Given the description of an element on the screen output the (x, y) to click on. 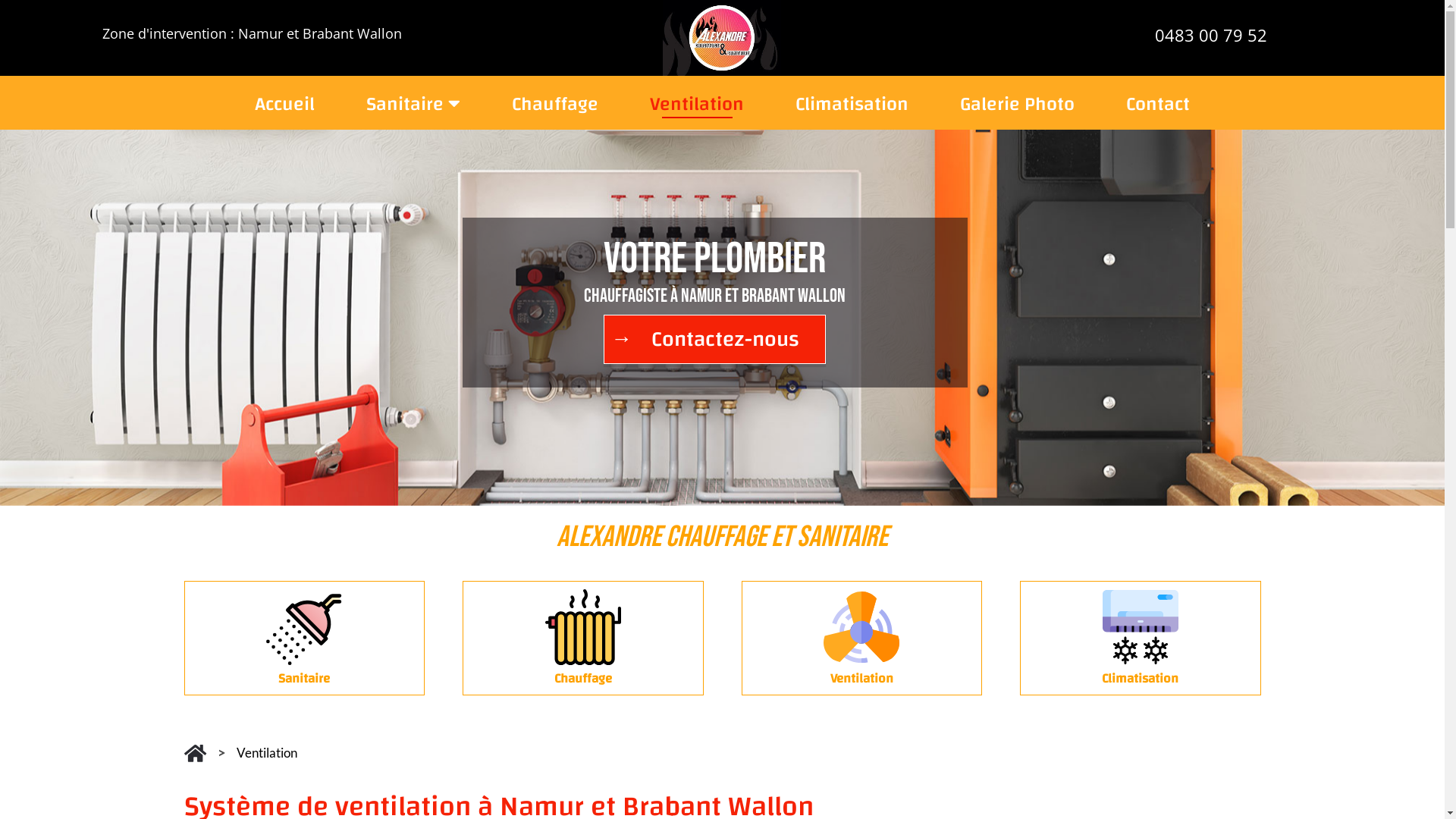
Climatisation Element type: text (851, 108)
Accueil Element type: text (284, 108)
Alexandre Chauffage et Sanitaire Element type: hover (722, 37)
Contact Element type: text (1157, 108)
0483 00 79 52 Element type: text (1210, 34)
Ventilation Element type: text (696, 108)
Sanitaire Element type: text (413, 107)
Galerie Photo Element type: text (1016, 108)
Contactez-nous Element type: text (714, 339)
Chauffage Element type: text (554, 108)
